Given the description of an element on the screen output the (x, y) to click on. 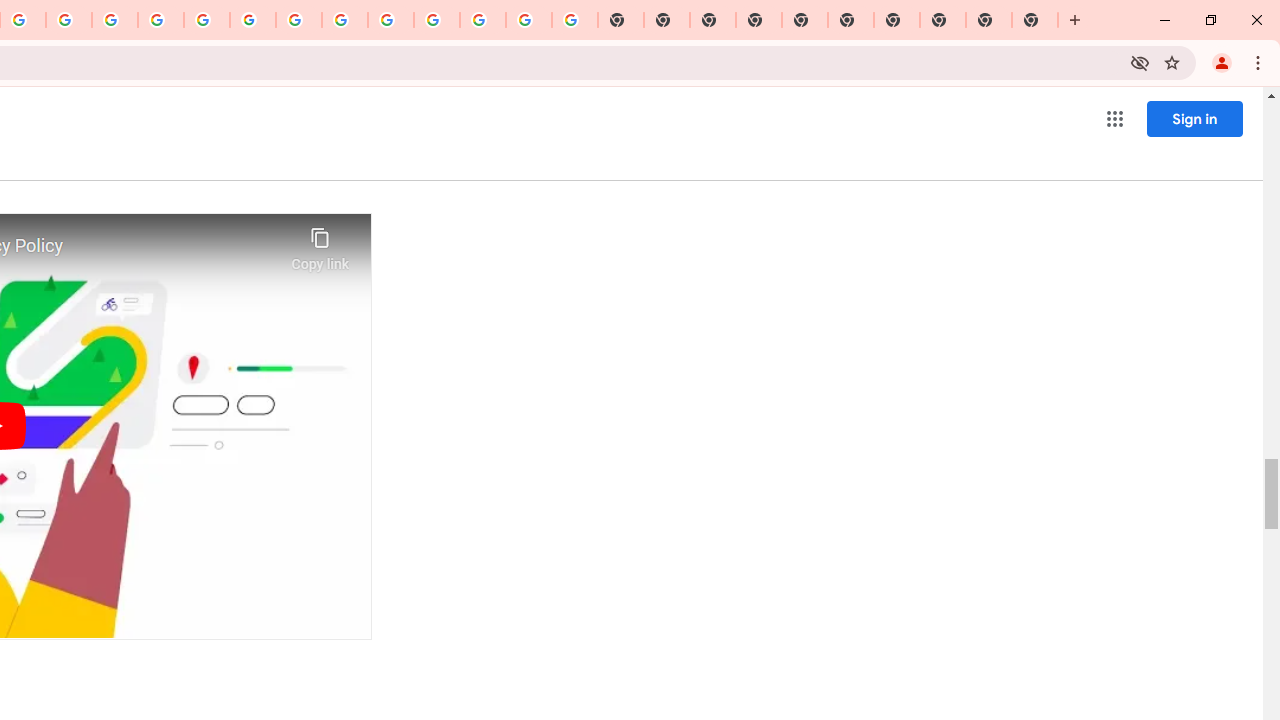
Google Images (574, 20)
New Tab (759, 20)
YouTube (299, 20)
New Tab (1035, 20)
Privacy Help Center - Policies Help (161, 20)
Copy link (319, 244)
